Given the description of an element on the screen output the (x, y) to click on. 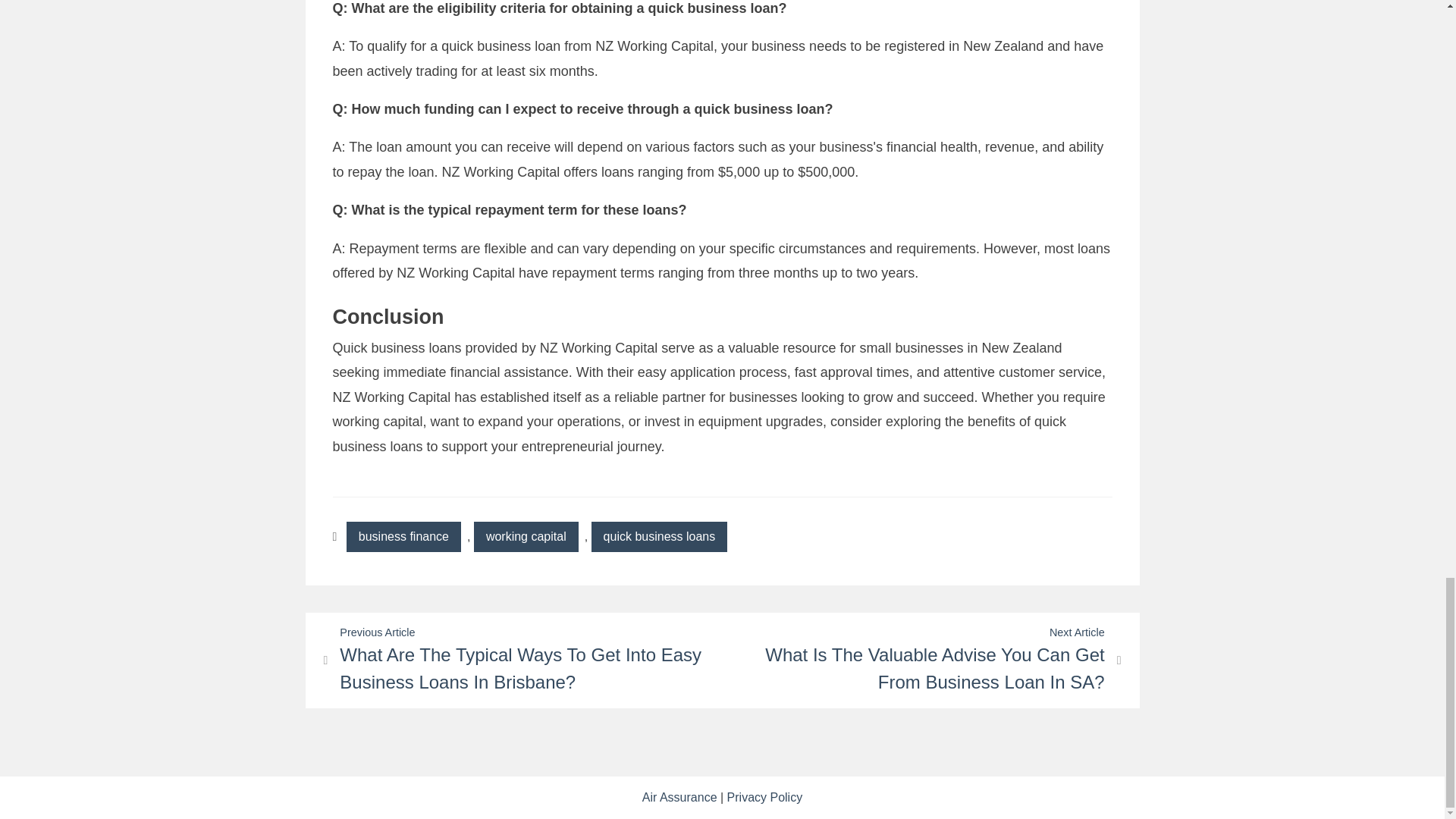
quick business loans (659, 536)
Privacy Policy (764, 797)
working capital (526, 536)
business finance (403, 536)
Air Assurance (679, 797)
